Given the description of an element on the screen output the (x, y) to click on. 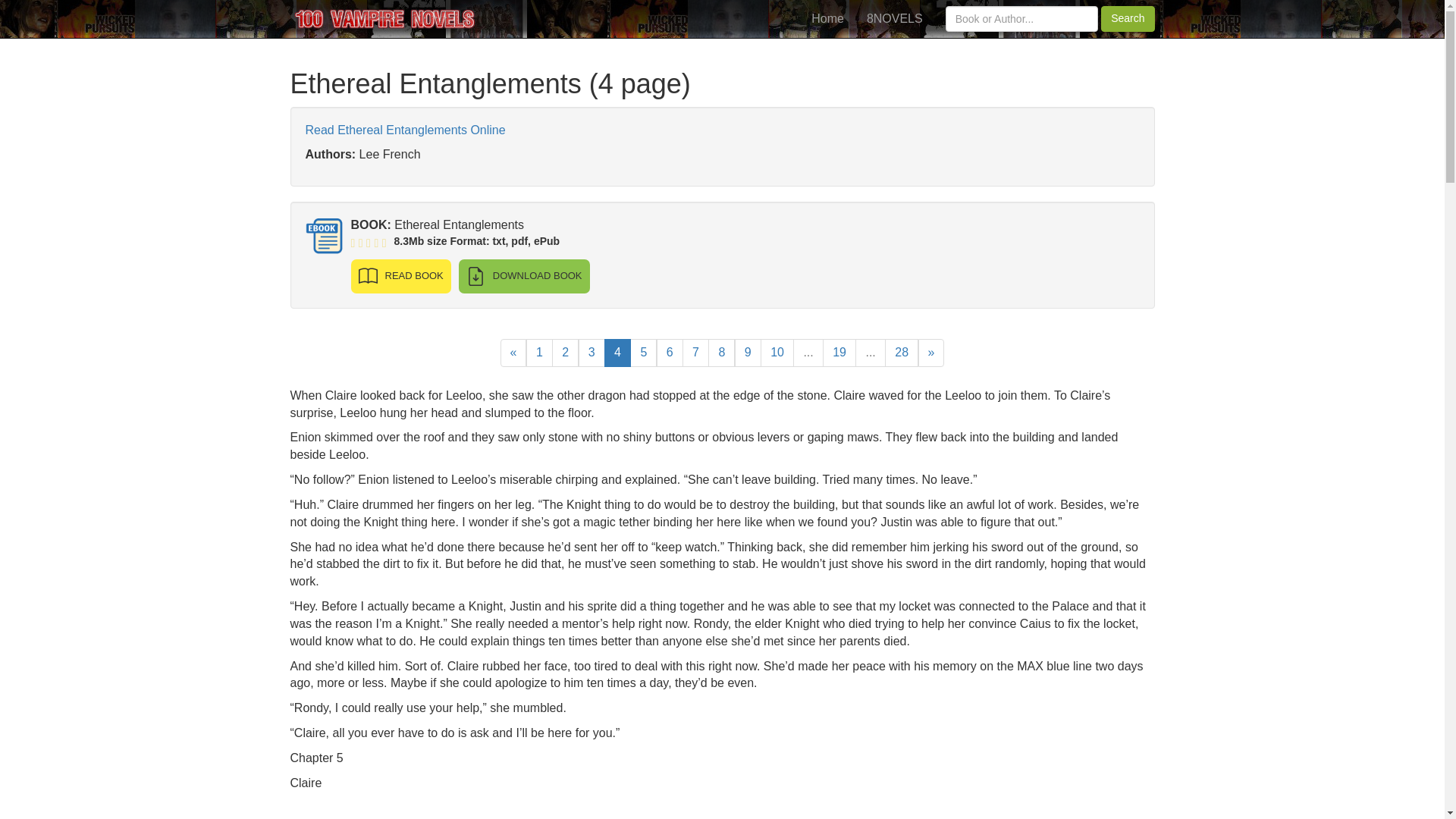
1 (539, 352)
Home (827, 18)
2 (564, 352)
4 (617, 352)
8 (721, 352)
3 (591, 352)
8NOVELS (895, 18)
28 (901, 352)
10 (776, 352)
Read Ethereal Entanglements Online (404, 129)
